Given the description of an element on the screen output the (x, y) to click on. 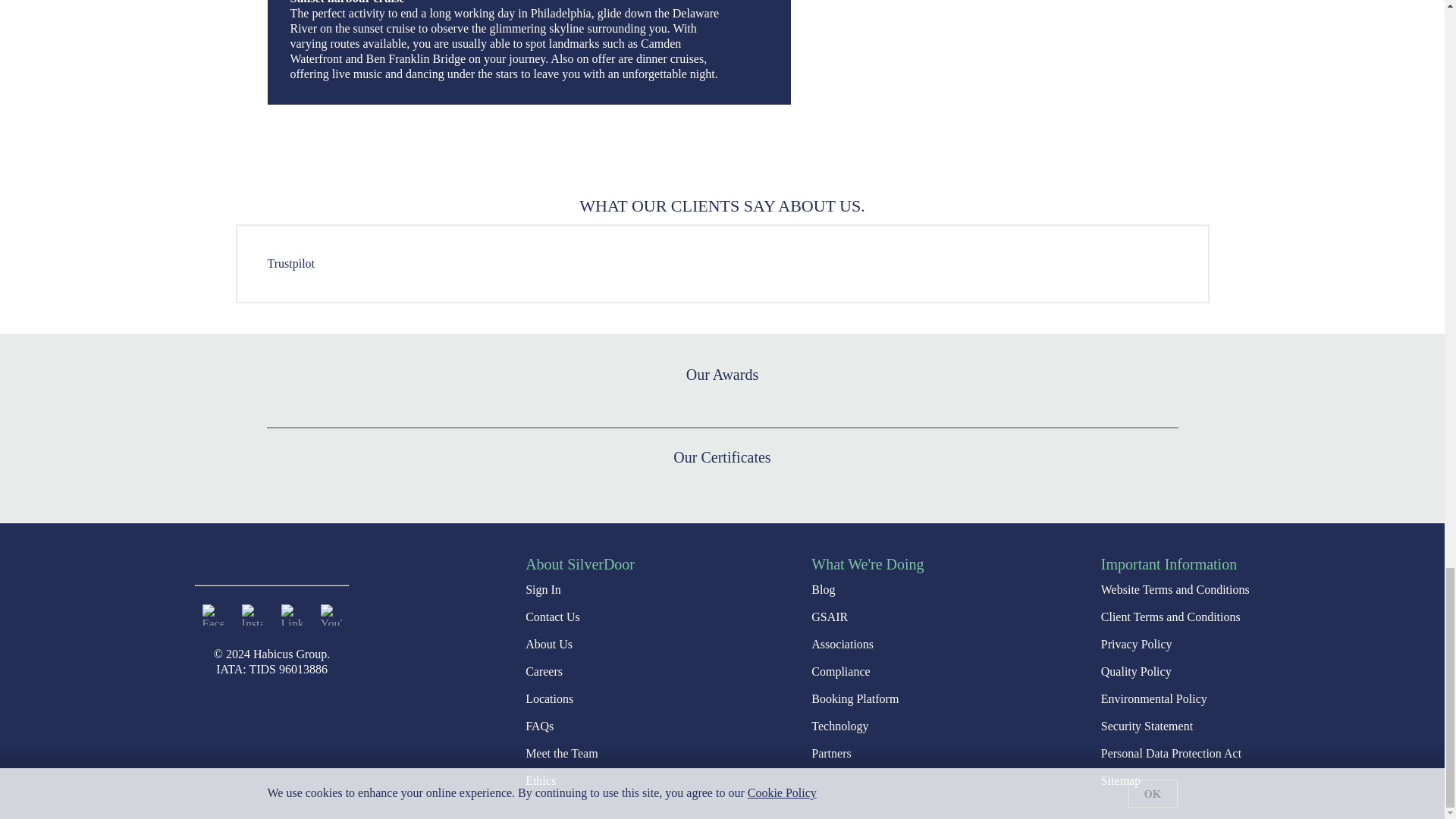
Trustpilot (290, 263)
